Given the description of an element on the screen output the (x, y) to click on. 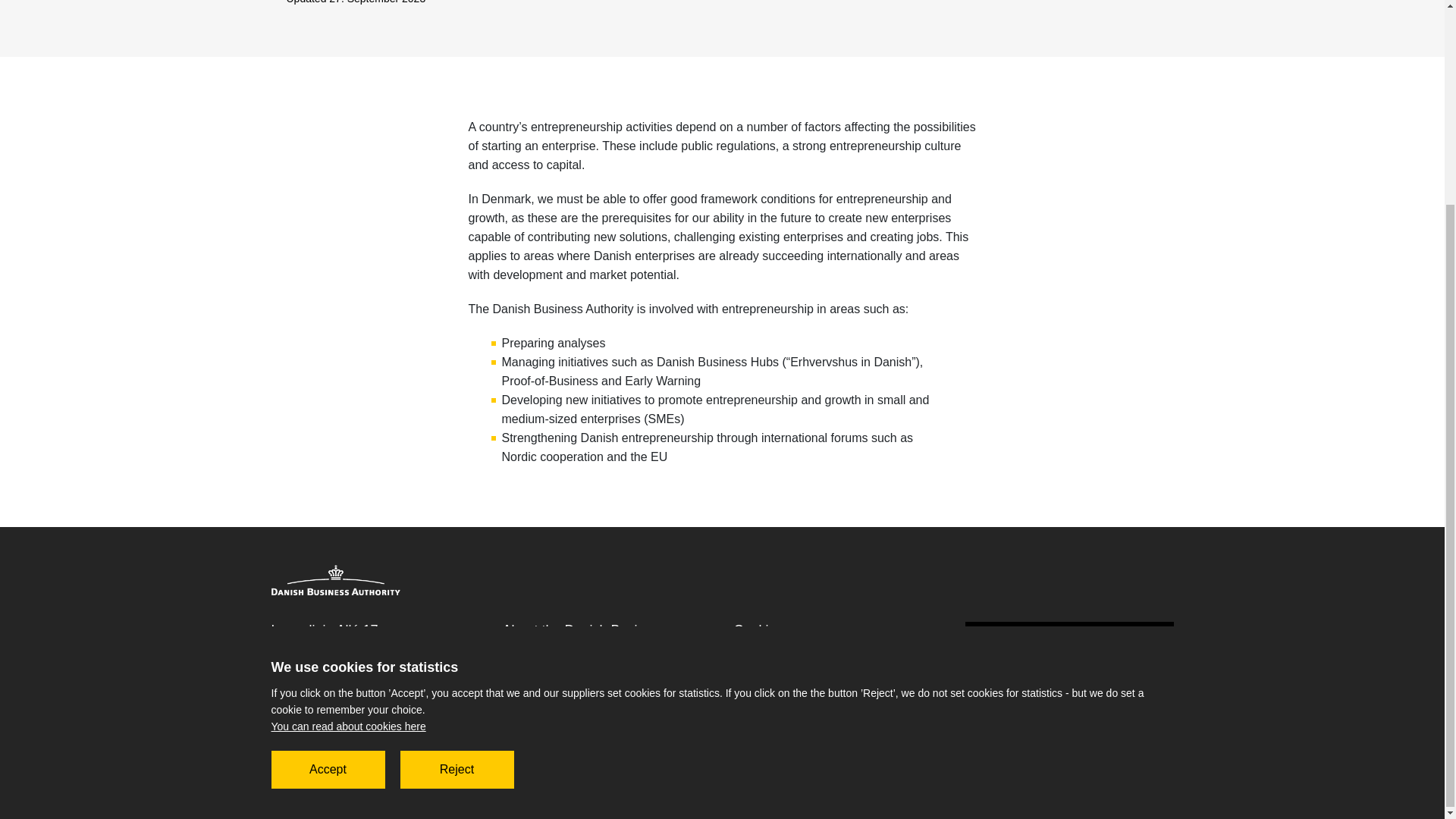
Accept (327, 506)
You can read about cookies here (348, 463)
About the Danish Business Authority (606, 638)
Danish (769, 670)
LinkedIn (1161, 714)
Phone (350, 691)
Support and help (568, 708)
Cookies (772, 629)
Accessibility statement (817, 650)
Facebook (1121, 714)
Subscription (1068, 640)
Contact (540, 667)
Relevant websites (335, 792)
Privacy notice (558, 687)
Reject (456, 506)
